Given the description of an element on the screen output the (x, y) to click on. 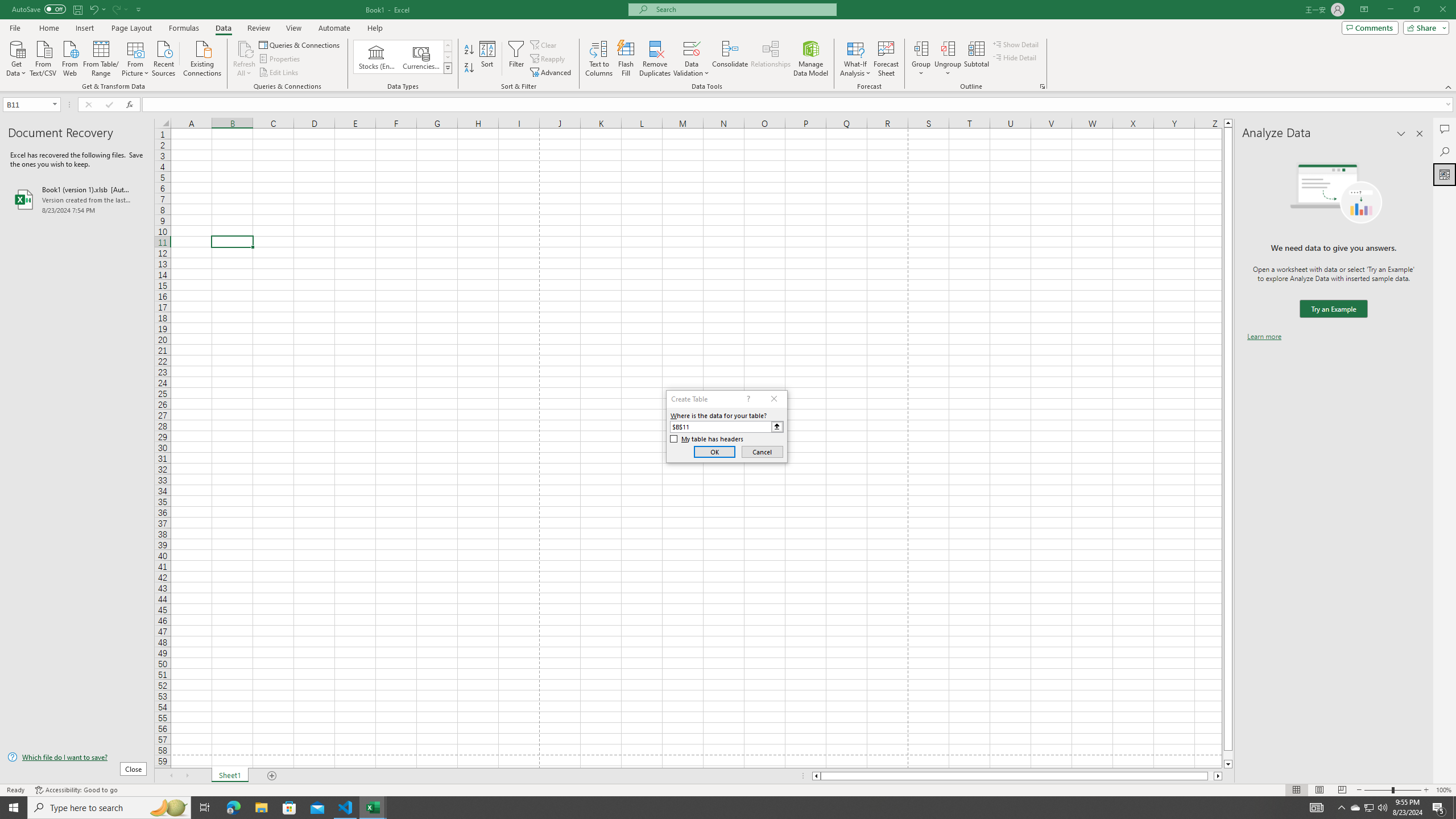
Refresh All (244, 58)
Share (1423, 27)
Reapply (548, 58)
Formula Bar (799, 104)
Zoom In (1426, 790)
Line down (1228, 764)
Sheet1 (229, 775)
Open (54, 104)
Recent Sources (163, 57)
Zoom (1392, 790)
Formulas (184, 28)
Restore Down (1416, 9)
Text to Columns... (598, 58)
From Web (69, 57)
Search (1444, 151)
